Given the description of an element on the screen output the (x, y) to click on. 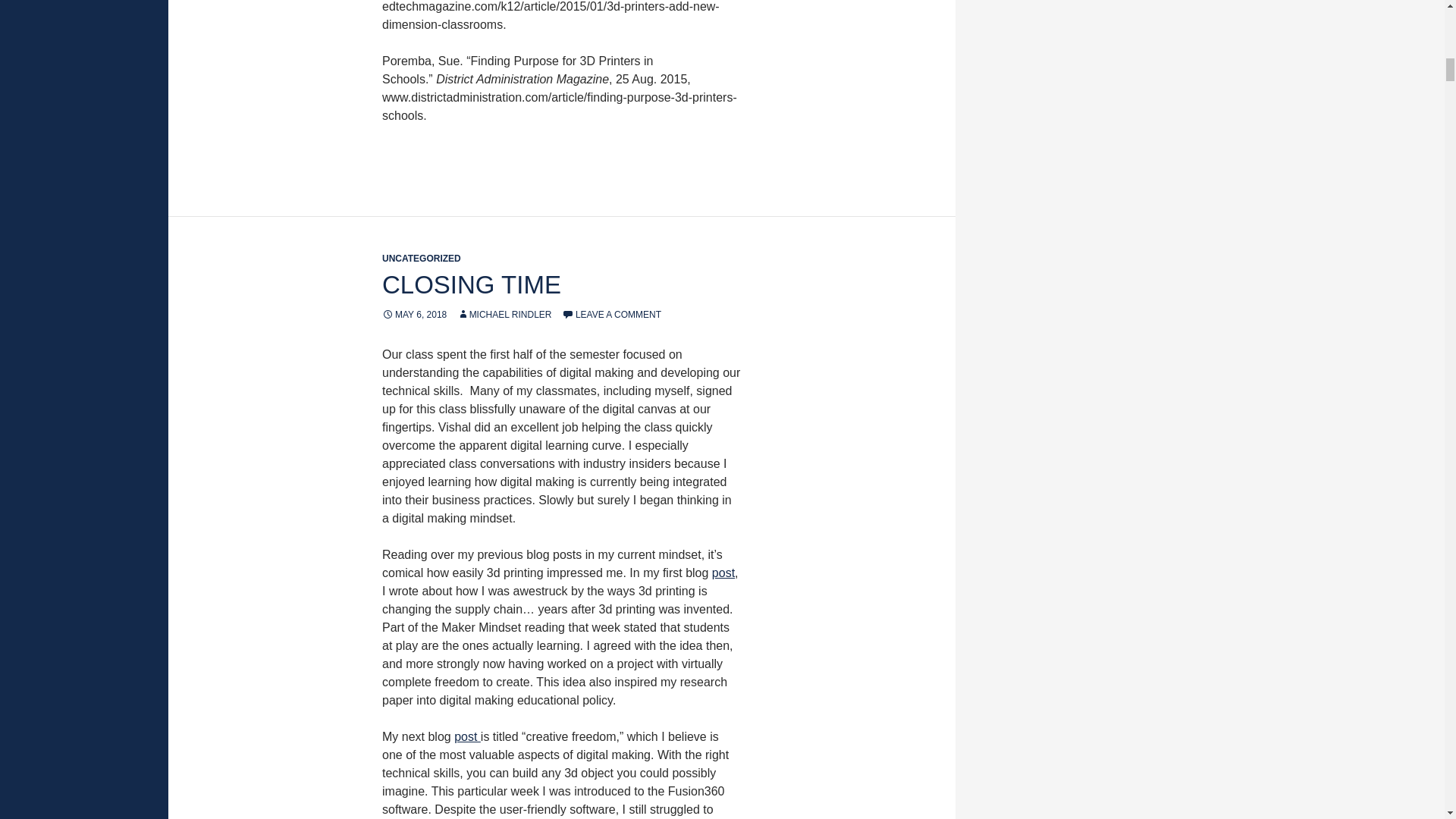
post (467, 736)
CLOSING TIME (470, 284)
UNCATEGORIZED (421, 258)
MICHAEL RINDLER (504, 314)
MAY 6, 2018 (413, 314)
LEAVE A COMMENT (611, 314)
post (723, 572)
